Given the description of an element on the screen output the (x, y) to click on. 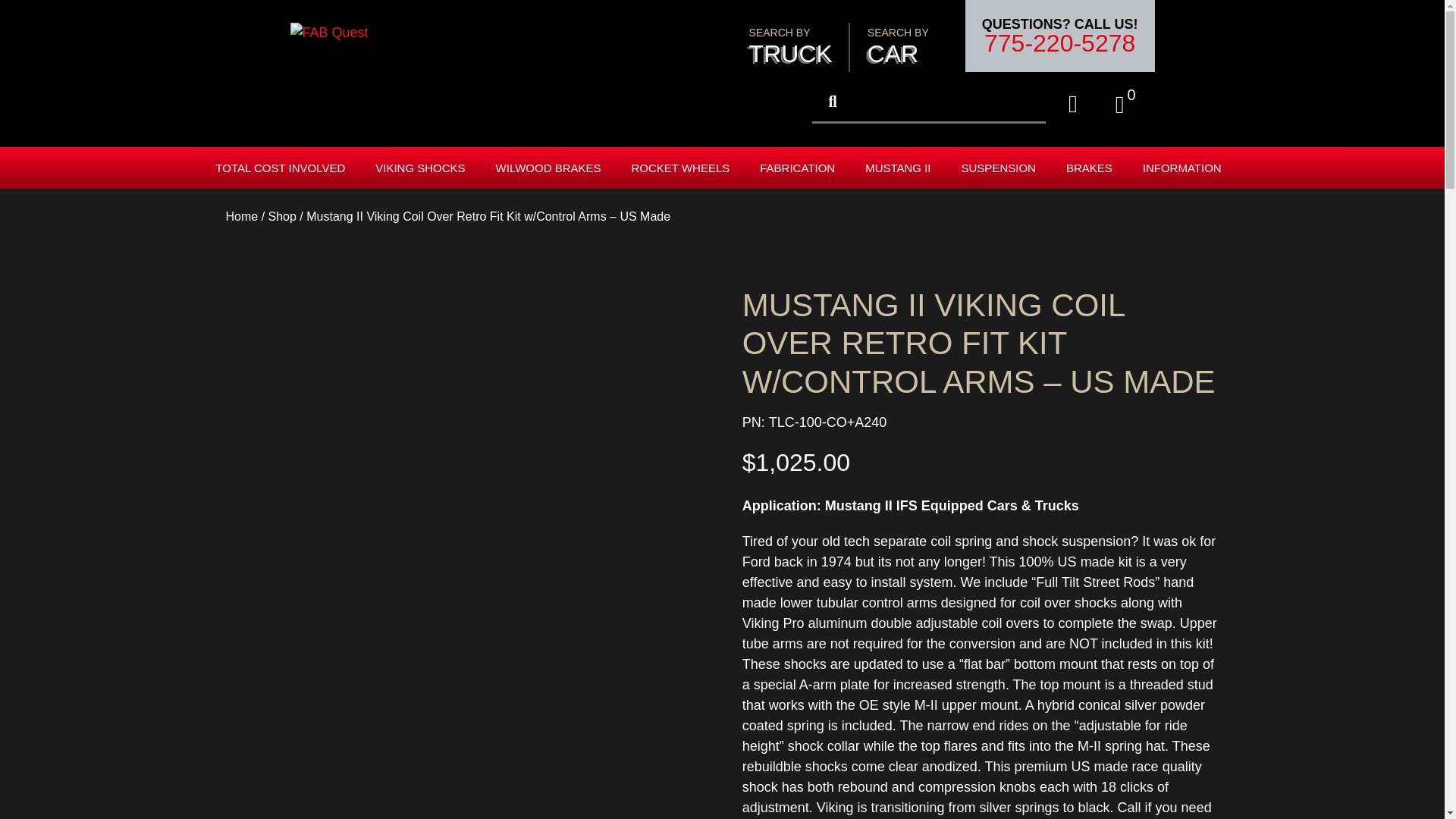
MUSTANG II (901, 168)
WILWOOD BRAKES (552, 168)
0 (1127, 103)
VIKING SHOCKS (423, 168)
775-220-5278 (1059, 43)
ROCKET WHEELS (897, 46)
FABRICATION (790, 46)
TOTAL COST INVOLVED (684, 168)
